Given the description of an element on the screen output the (x, y) to click on. 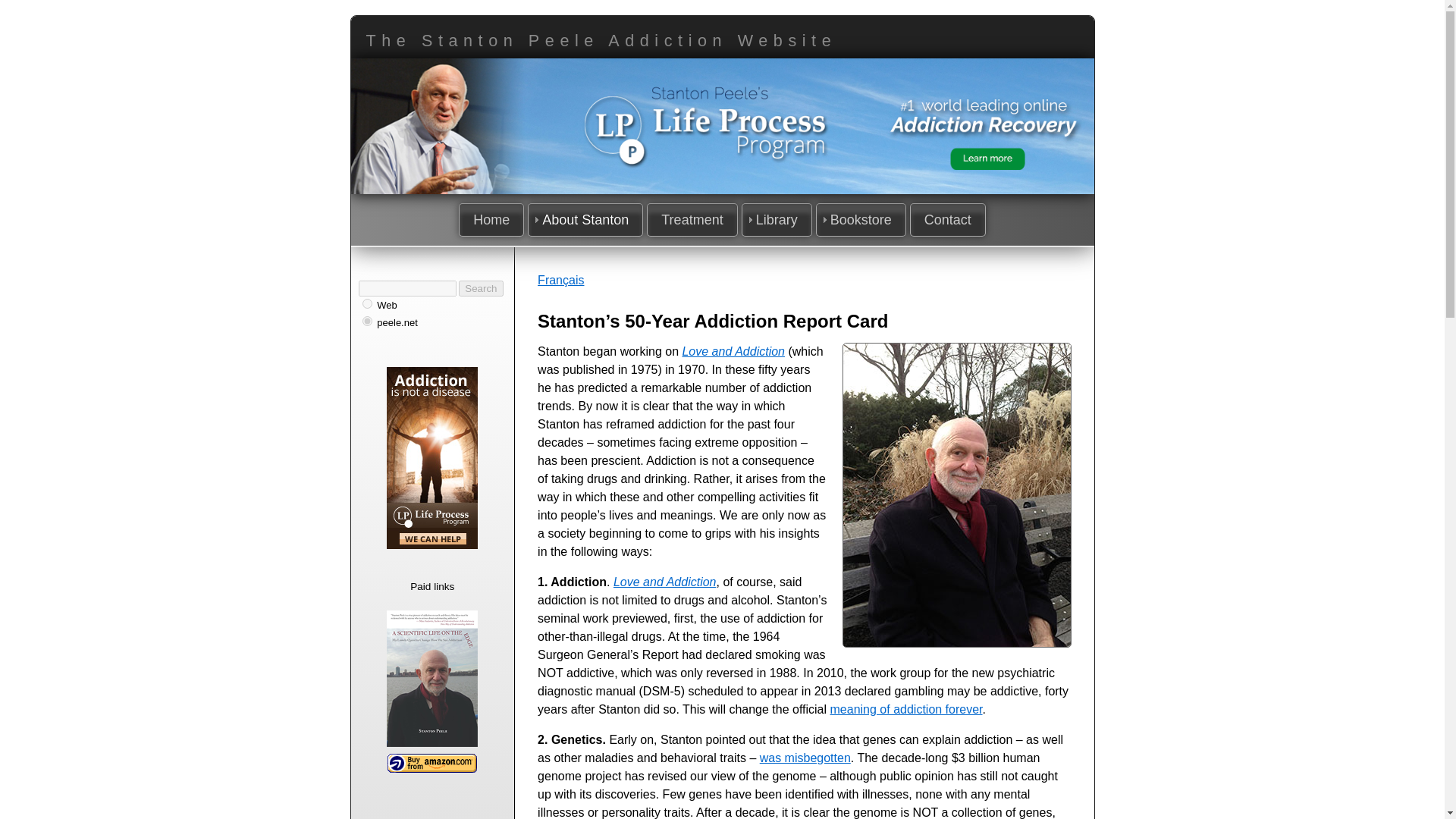
Search (480, 288)
Search (480, 288)
Bookstore (860, 219)
meaning of addiction forever (905, 708)
About Stanton (585, 219)
Search peele.net (397, 322)
Treatment (691, 219)
Contact (947, 219)
Library (776, 219)
Love and Addiction (664, 581)
peele.net (367, 320)
Search the Web (387, 305)
Home (491, 219)
was misbegotten (805, 757)
Love and Addiction (732, 350)
